Given the description of an element on the screen output the (x, y) to click on. 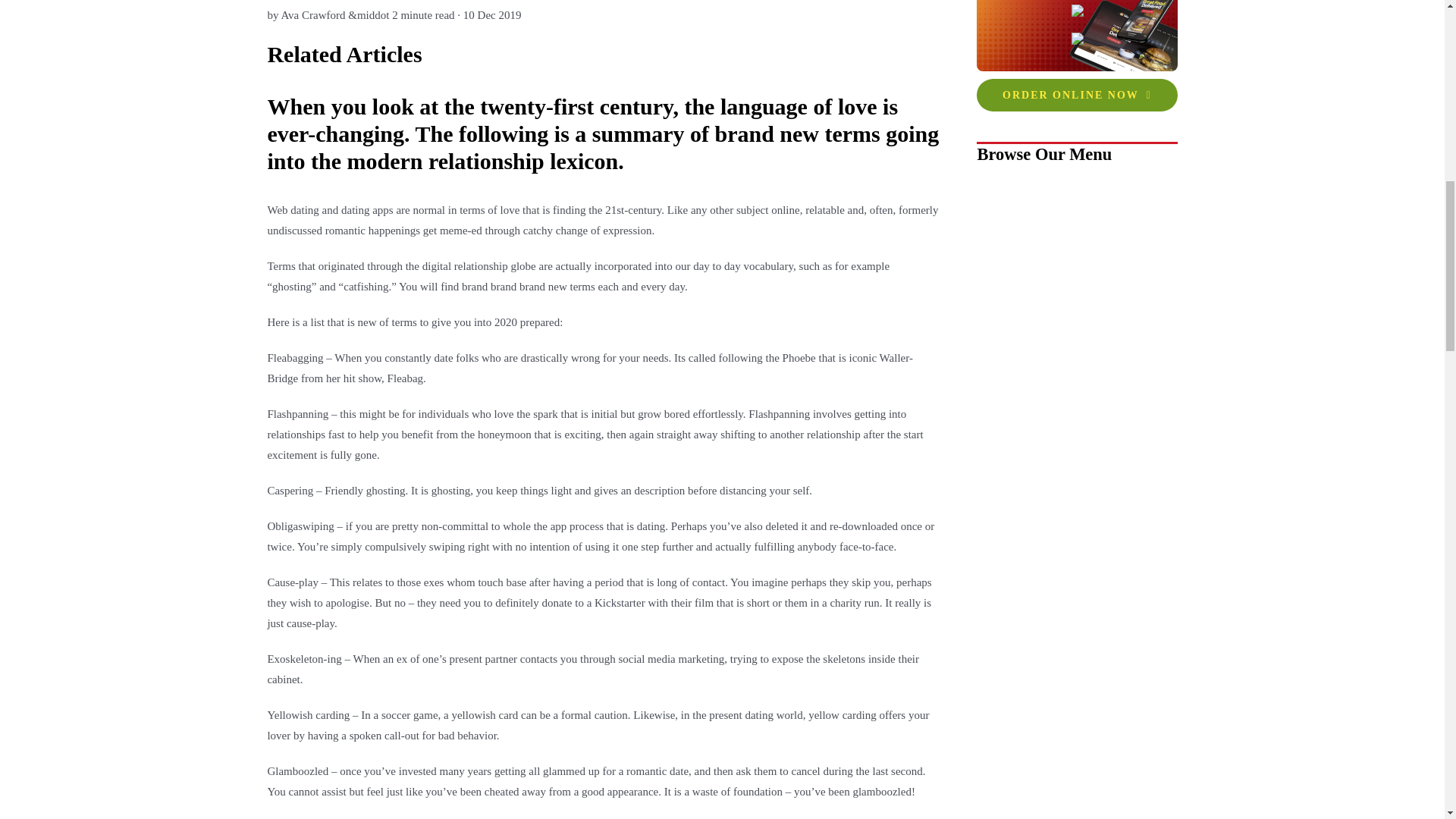
ORDER ONLINE NOW (1076, 94)
